Given the description of an element on the screen output the (x, y) to click on. 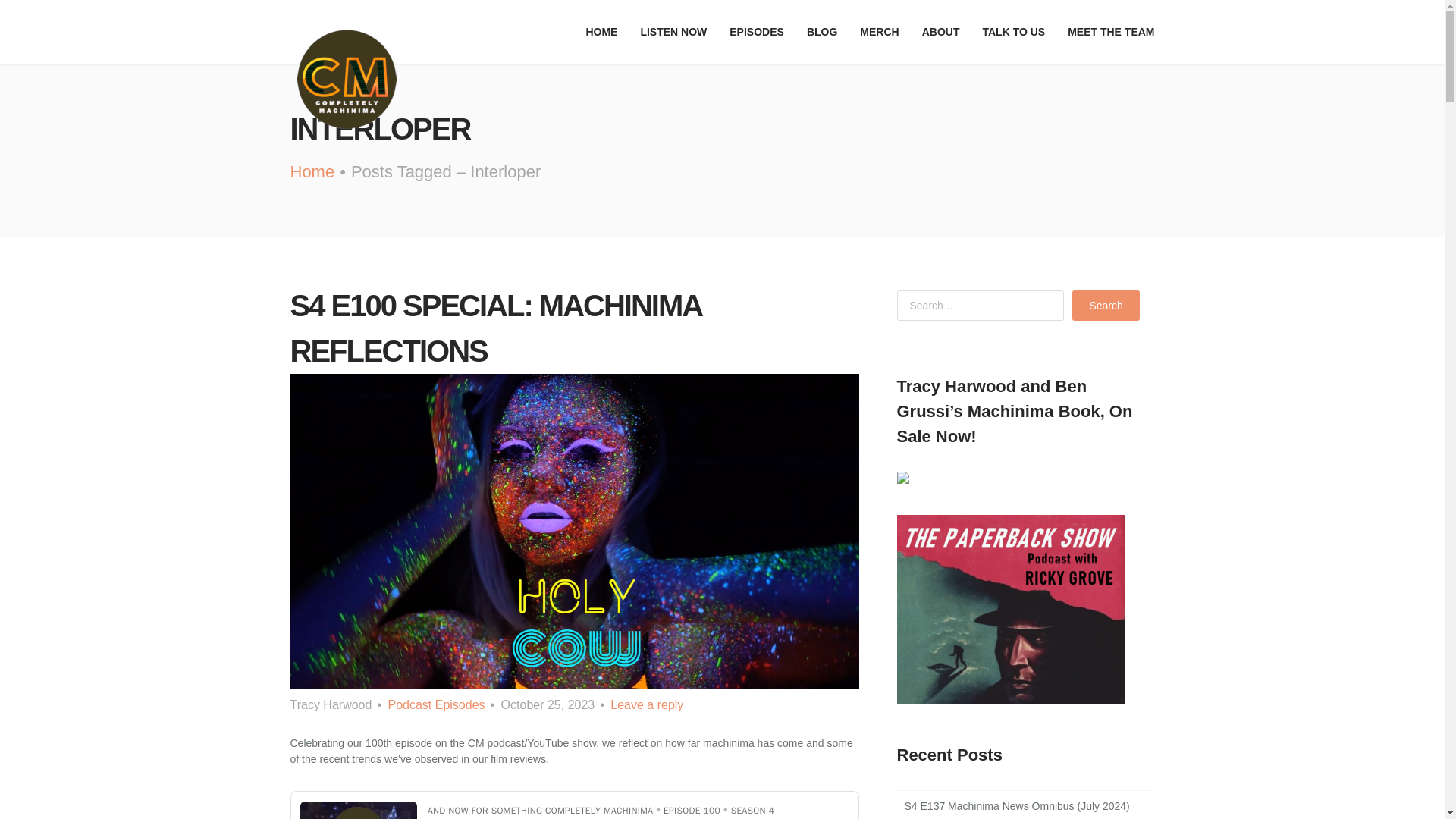
EPISODES (755, 31)
TALK TO US (1014, 31)
MEET THE TEAM (1105, 31)
Podcast Episodes (435, 704)
ABOUT (941, 31)
Search (1104, 305)
S4 E100 SPECIAL: Machinima Reflections (494, 328)
LISTEN NOW (672, 31)
MERCH (879, 31)
S4 E100 SPECIAL: MACHINIMA REFLECTIONS (494, 328)
Search (1104, 305)
HOME (600, 31)
Search (1104, 305)
Leave a reply (646, 704)
BLOG (821, 31)
